Given the description of an element on the screen output the (x, y) to click on. 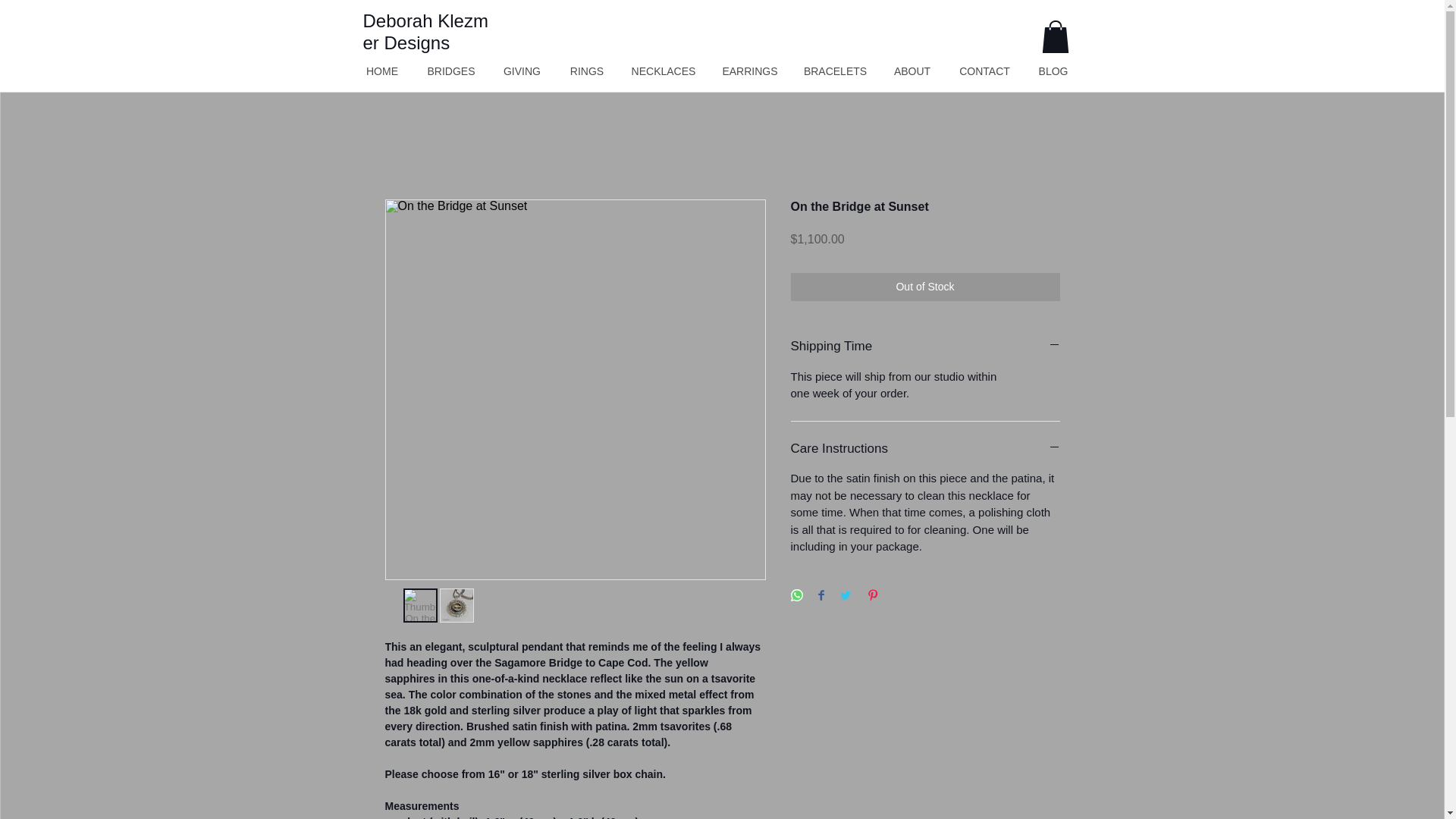
GIVING (520, 71)
RINGS (585, 71)
BLOG (1052, 71)
HOME (381, 71)
ABOUT (911, 71)
Shipping Time (924, 346)
NECKLACES (663, 71)
CONTACT (983, 71)
BRIDGES (451, 71)
Care Instructions (924, 448)
EARRINGS (748, 71)
BRACELETS (835, 71)
Out of Stock (924, 286)
